Given the description of an element on the screen output the (x, y) to click on. 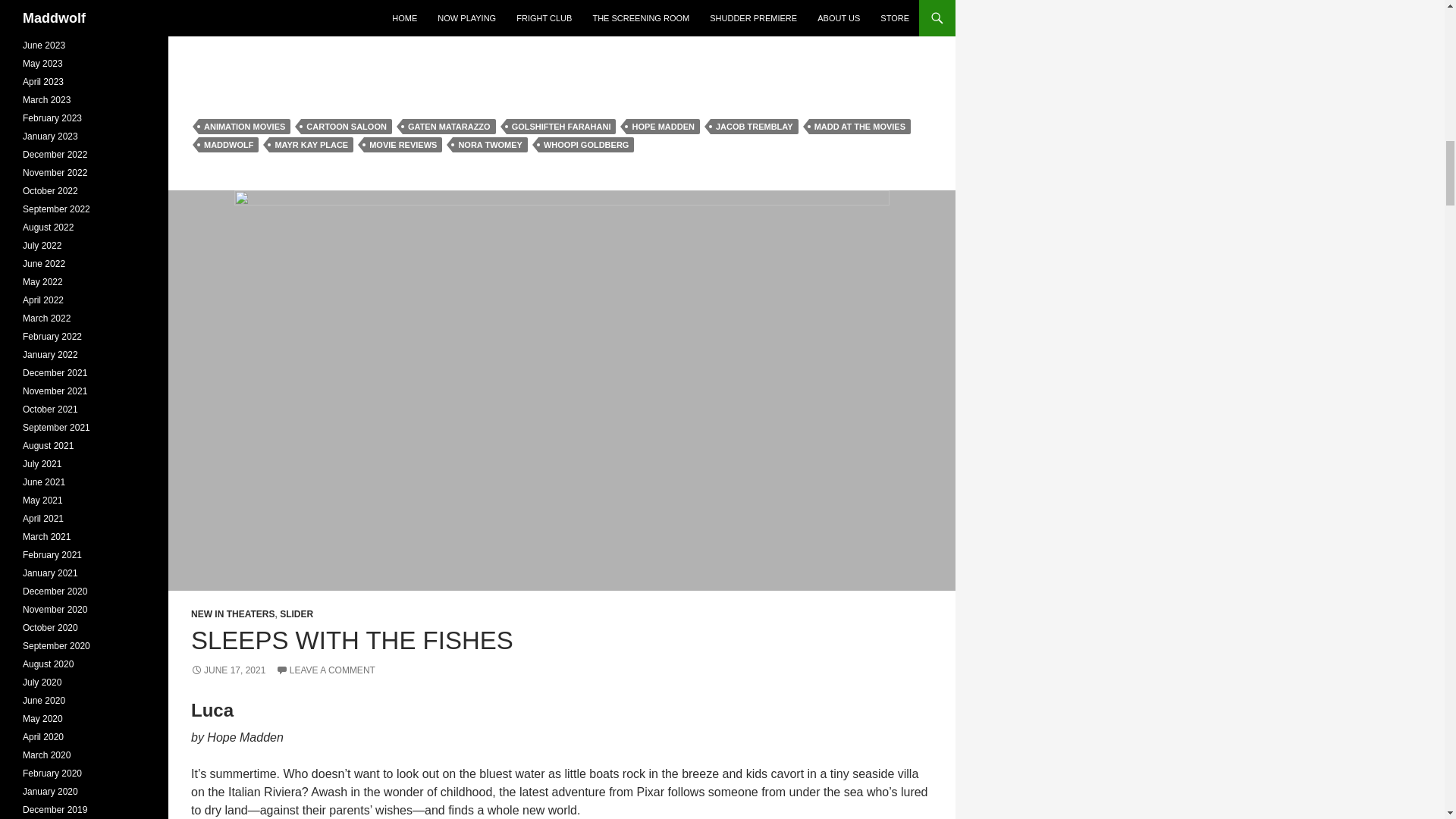
MADDWOLF (228, 144)
CARTOON SALOON (346, 126)
SLIDER (296, 614)
NORA TWOMEY (489, 144)
MAYR KAY PLACE (311, 144)
ANIMATION MOVIES (243, 126)
SLEEPS WITH THE FISHES (351, 640)
NEW IN THEATERS (232, 614)
JUNE 17, 2021 (227, 670)
MOVIE REVIEWS (403, 144)
LEAVE A COMMENT (325, 670)
JACOB TREMBLAY (753, 126)
GOLSHIFTEH FARAHANI (560, 126)
MADD AT THE MOVIES (860, 126)
WHOOPI GOLDBERG (585, 144)
